Given the description of an element on the screen output the (x, y) to click on. 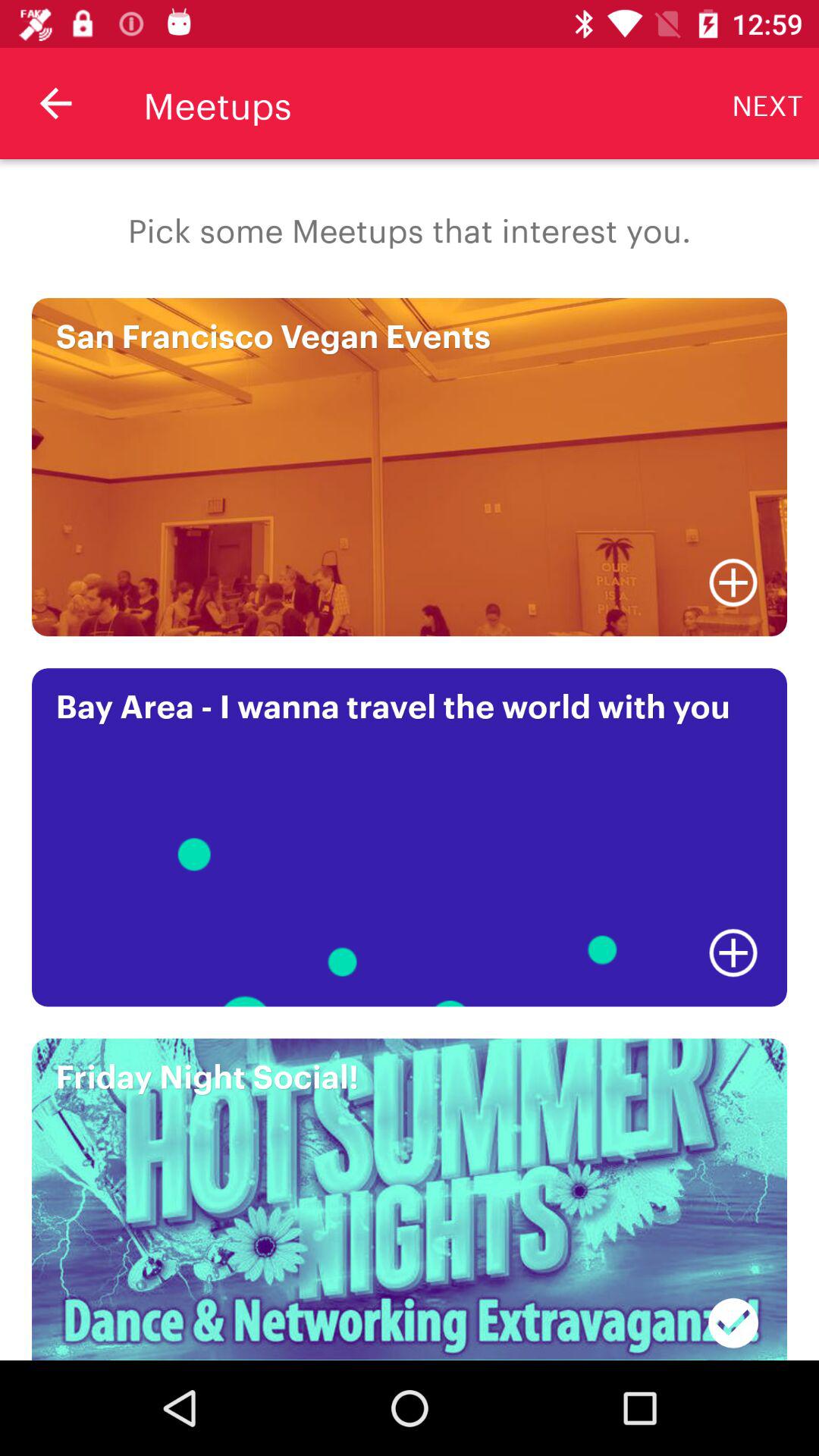
launch the item below bay area i (733, 952)
